Given the description of an element on the screen output the (x, y) to click on. 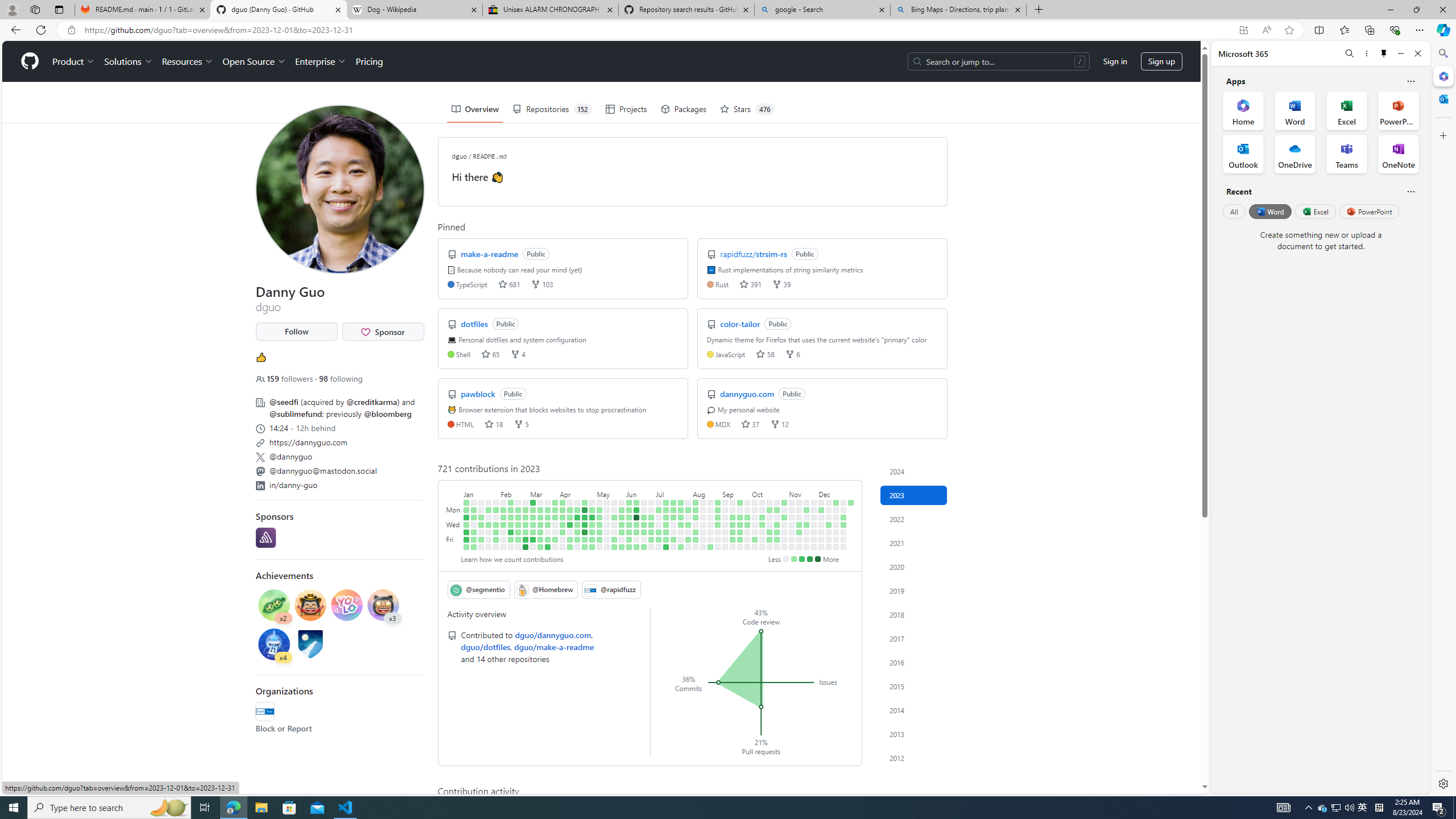
Word Office App (1295, 110)
2 contributions on May 26th. (614, 539)
No contributions on March 30th. (555, 531)
5 contributions on June 1st. (621, 531)
in/danny-guo (338, 483)
No contributions on February 18th. (510, 546)
No contributions on October 2nd. (754, 509)
Packages (683, 108)
9 contributions on July 15th. (665, 546)
1 contribution on December 13th. (828, 524)
2 contributions on May 29th. (621, 509)
No contributions on November 13th. (799, 509)
11 contributions on January 3rd. (466, 517)
